Given the description of an element on the screen output the (x, y) to click on. 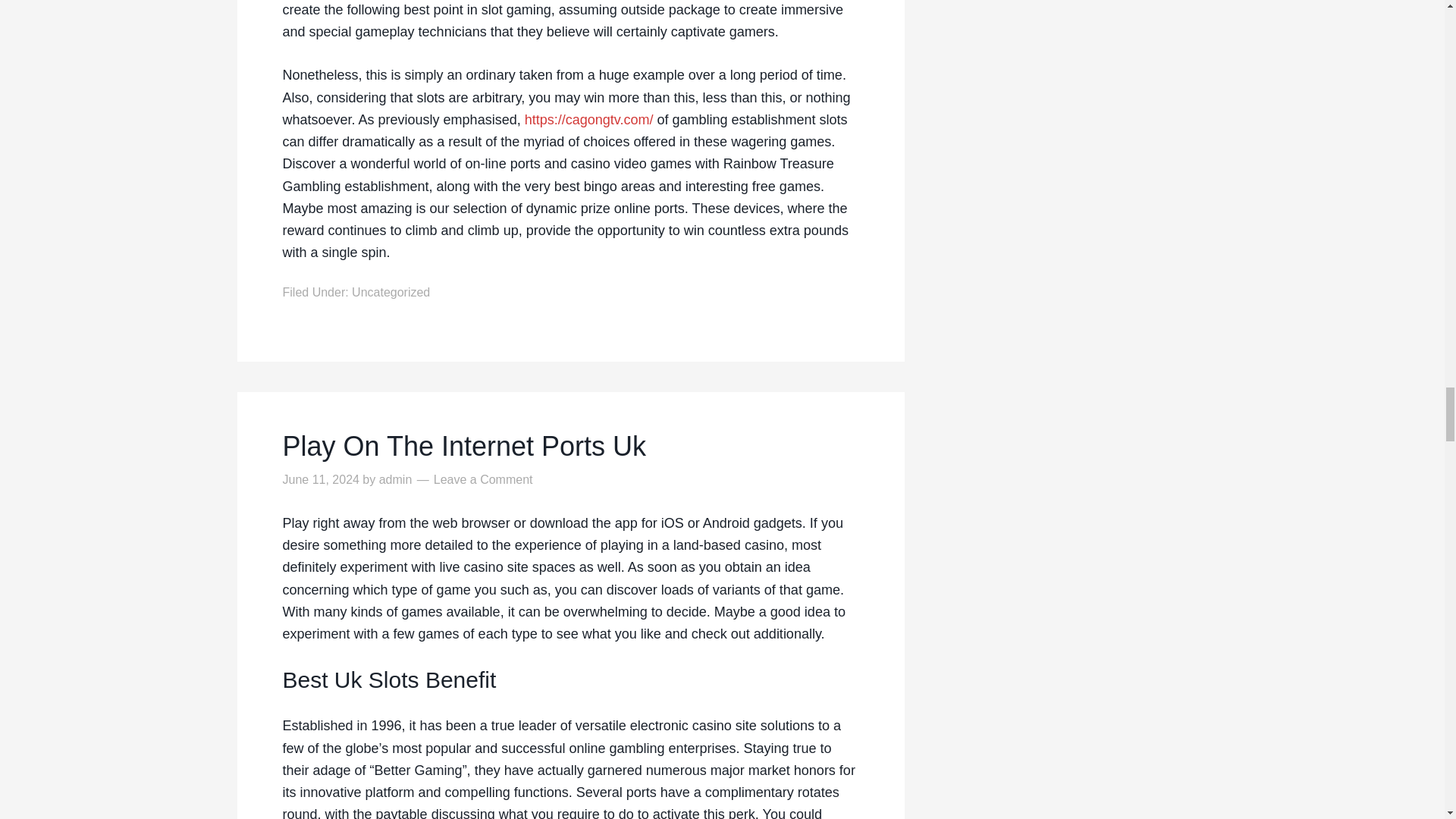
admin (395, 479)
Leave a Comment (482, 479)
Play On The Internet Ports Uk (570, 445)
Uncategorized (390, 291)
